Given the description of an element on the screen output the (x, y) to click on. 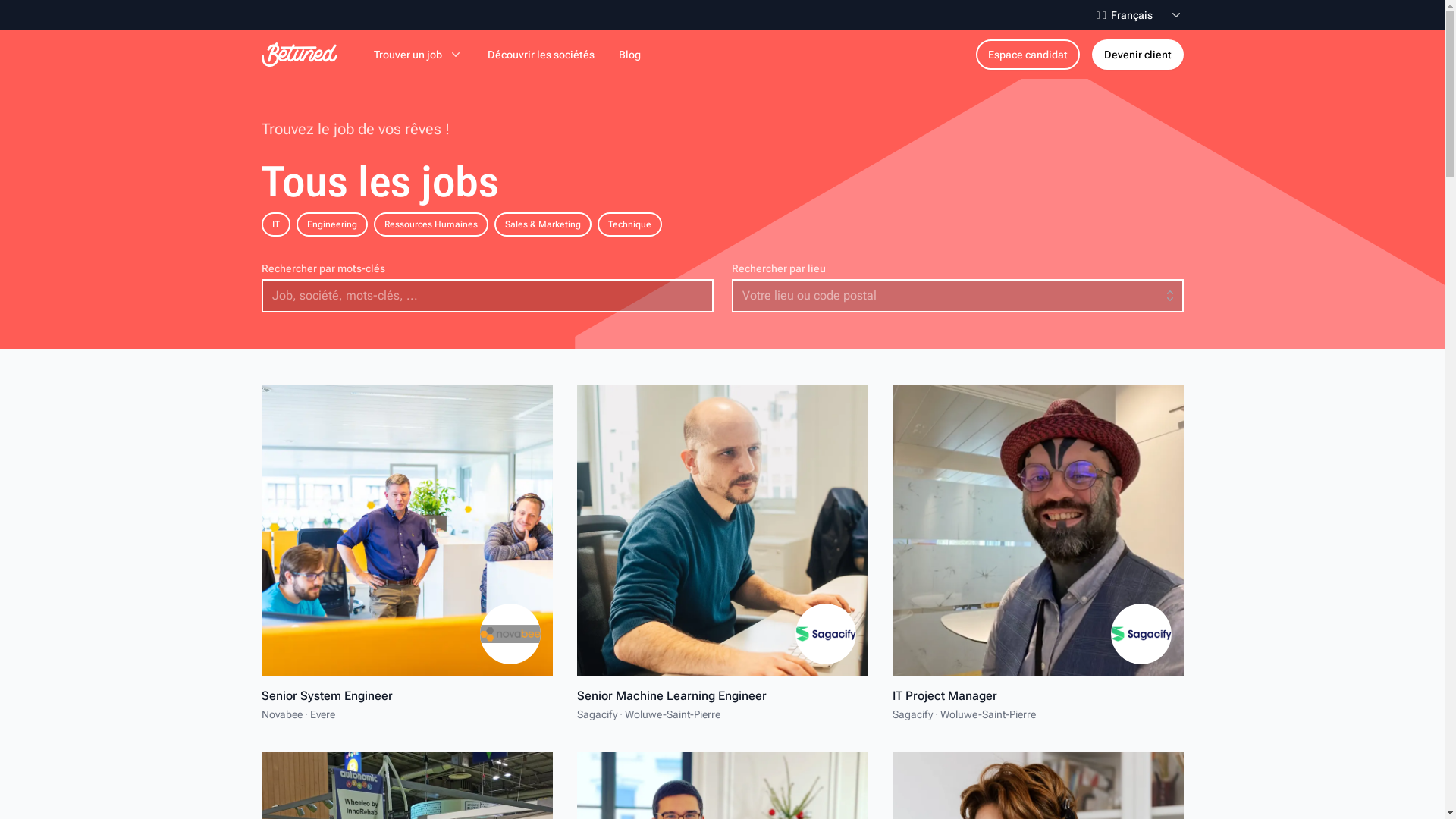
Engineering Element type: text (331, 224)
IT Element type: text (274, 224)
Technique Element type: text (629, 224)
Sales & Marketing Element type: text (542, 224)
Betuned Element type: text (298, 54)
Devenir client Element type: text (1137, 54)
Ressources Humaines Element type: text (430, 224)
Blog Element type: text (629, 54)
Espace candidat Element type: text (1027, 54)
Trouver un job Element type: text (417, 54)
